Given the description of an element on the screen output the (x, y) to click on. 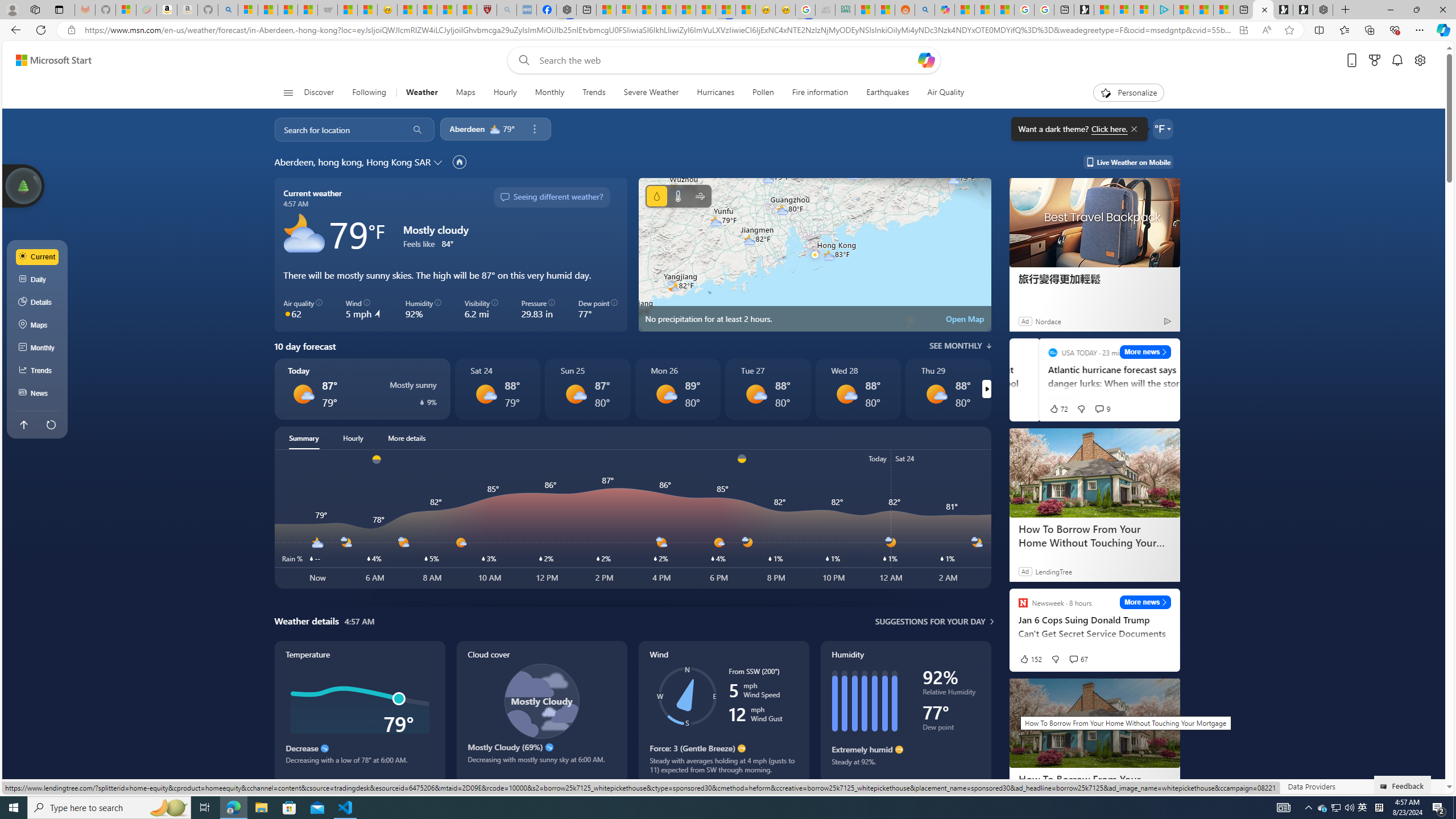
Microsoft Copilot in Bing (944, 9)
Air Quality (945, 92)
Precipitation (422, 401)
Air Quality (940, 92)
Monthly (549, 92)
Class: cloudCoverSvg-DS-ps0R9q (541, 700)
Set as primary location (459, 161)
More details (406, 437)
Search for location (337, 128)
